Given the description of an element on the screen output the (x, y) to click on. 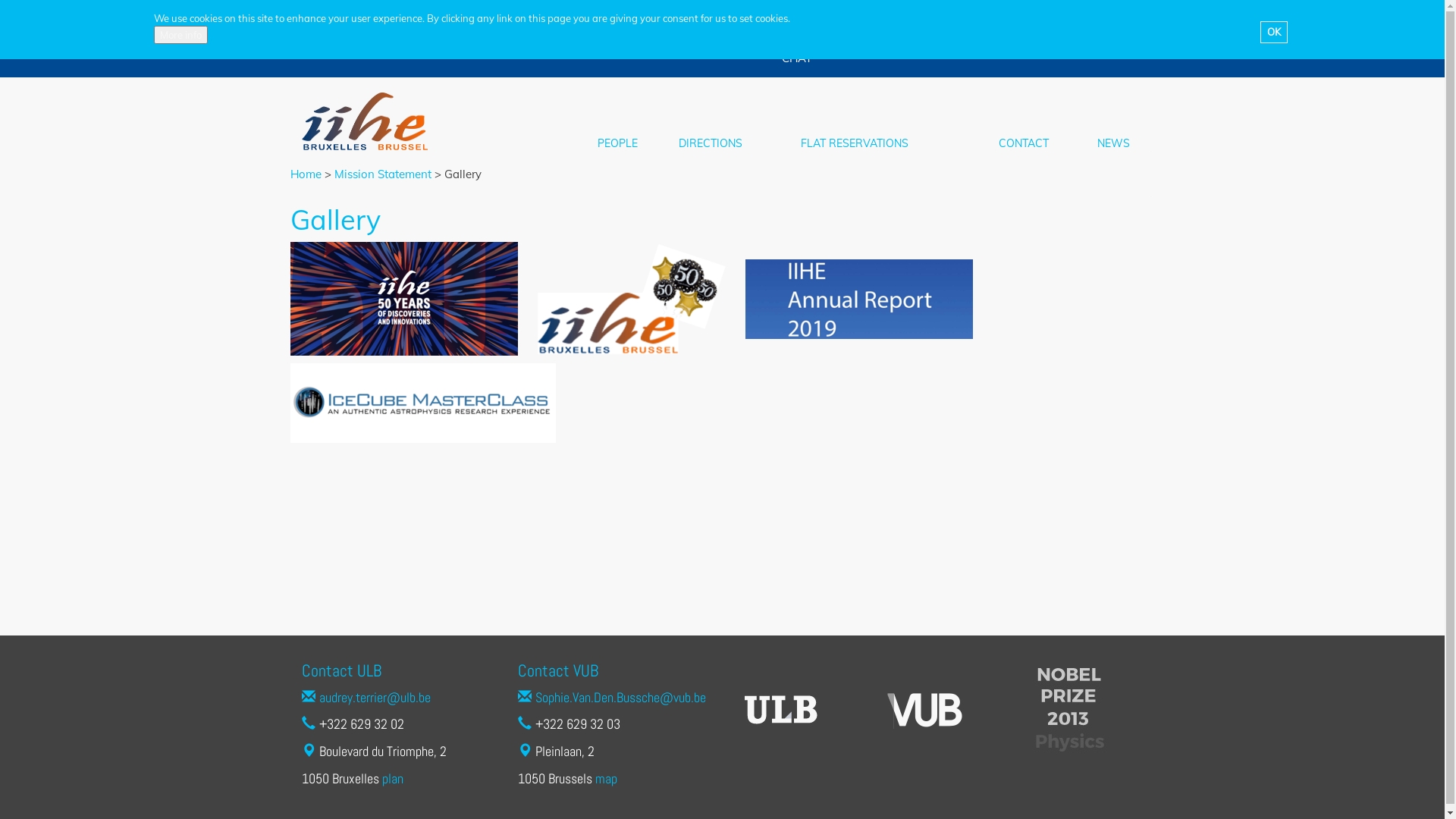
PEOPLE Element type: text (617, 143)
Intranet Element type: text (801, 19)
DIRECTIONS Element type: text (710, 143)
Mission Statement Element type: text (381, 173)
Visit Nobel prize website Element type: hover (1069, 709)
More info Element type: text (180, 34)
FLAT RESERVATIONS Element type: text (854, 143)
plan Element type: text (392, 778)
Visit ULB website Element type: hover (781, 709)
Home Element type: text (304, 173)
NEWS Element type: text (1113, 143)
Skip to main content Element type: text (0, 0)
Search Element type: text (1018, 30)
map Element type: text (605, 778)
CONTACT Element type: text (1023, 143)
audrey.terrier@ulb.be Element type: text (373, 697)
Sophie.Van.Den.Bussche@vub.be Element type: text (620, 697)
WIKI Element type: text (857, 19)
CHAT Element type: text (796, 57)
IIHE Logo - Homepage Element type: hover (364, 121)
Enter the terms you wish to search for. Element type: hover (1076, 16)
OK Element type: text (1273, 32)
Visit VUB website Element type: hover (925, 709)
